Given the description of an element on the screen output the (x, y) to click on. 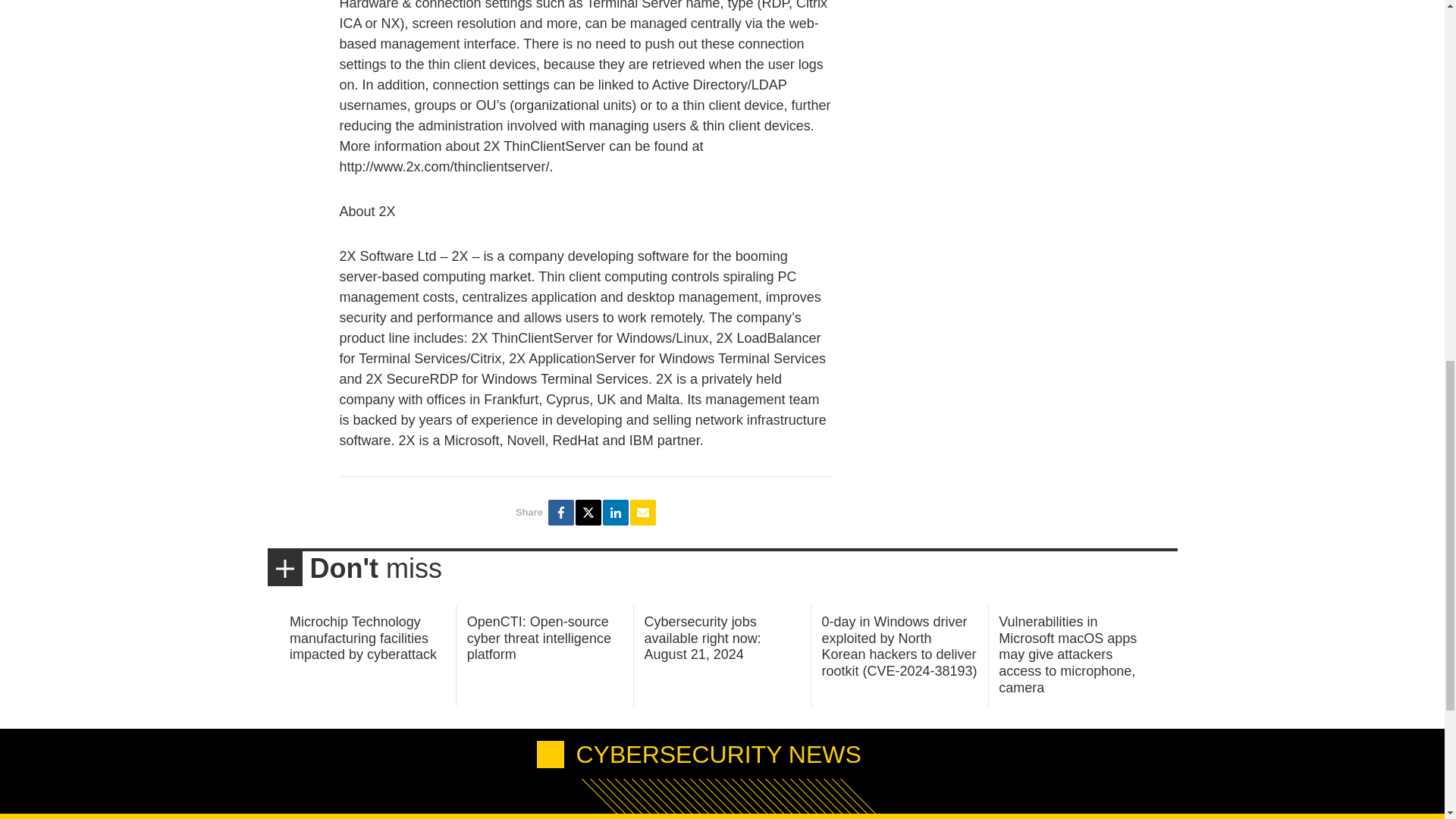
OpenCTI: Open-source cyber threat intelligence platform (539, 637)
Cybersecurity jobs available right now: August 21, 2024 (703, 637)
Share 2X to Give Away 1 Million Free Thin Clients on Twitter (588, 512)
Share 2X to Give Away 1 Million Free Thin Clients via E-mail (643, 512)
